Given the description of an element on the screen output the (x, y) to click on. 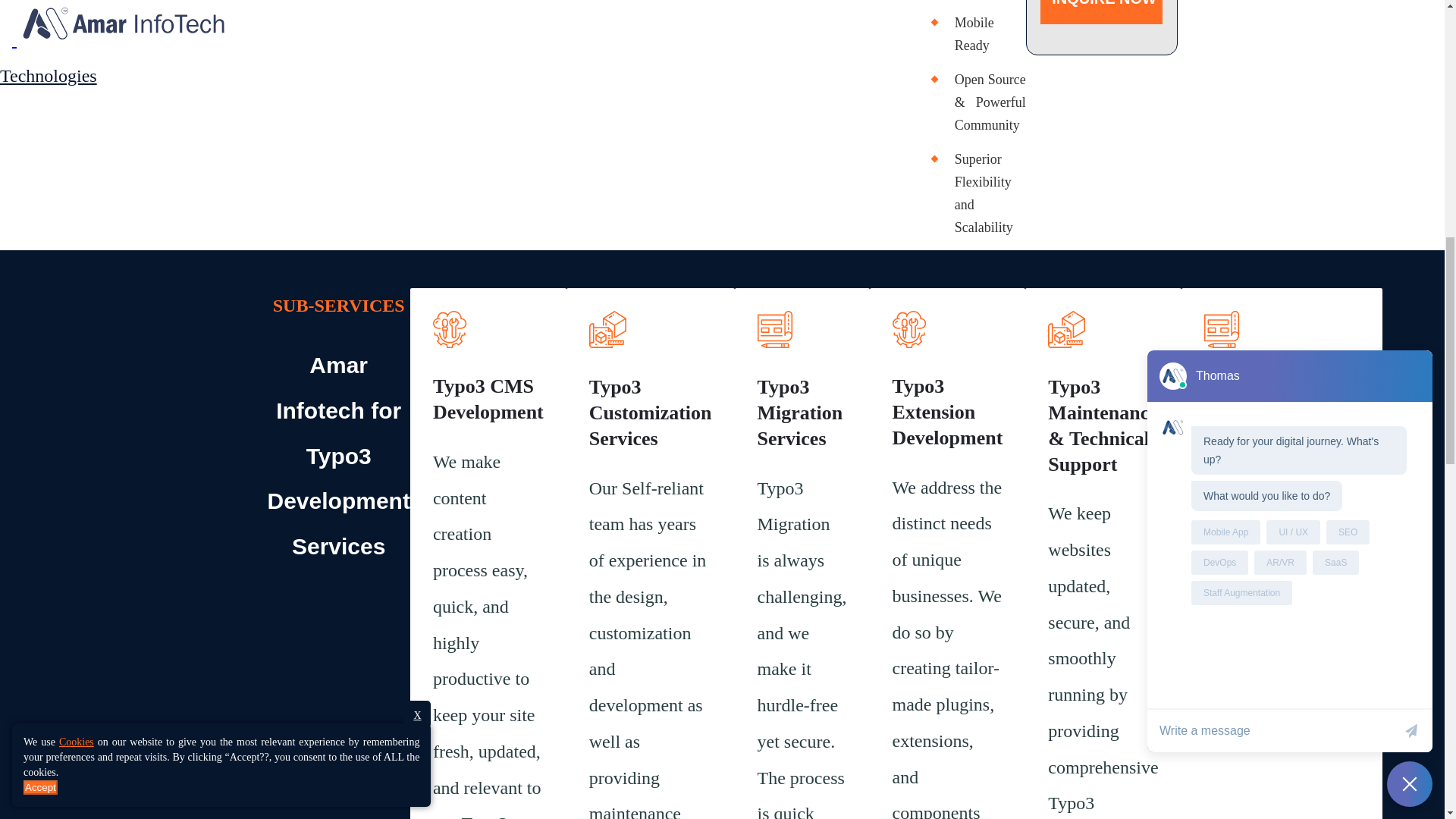
Inquire Now (1101, 9)
